Given the description of an element on the screen output the (x, y) to click on. 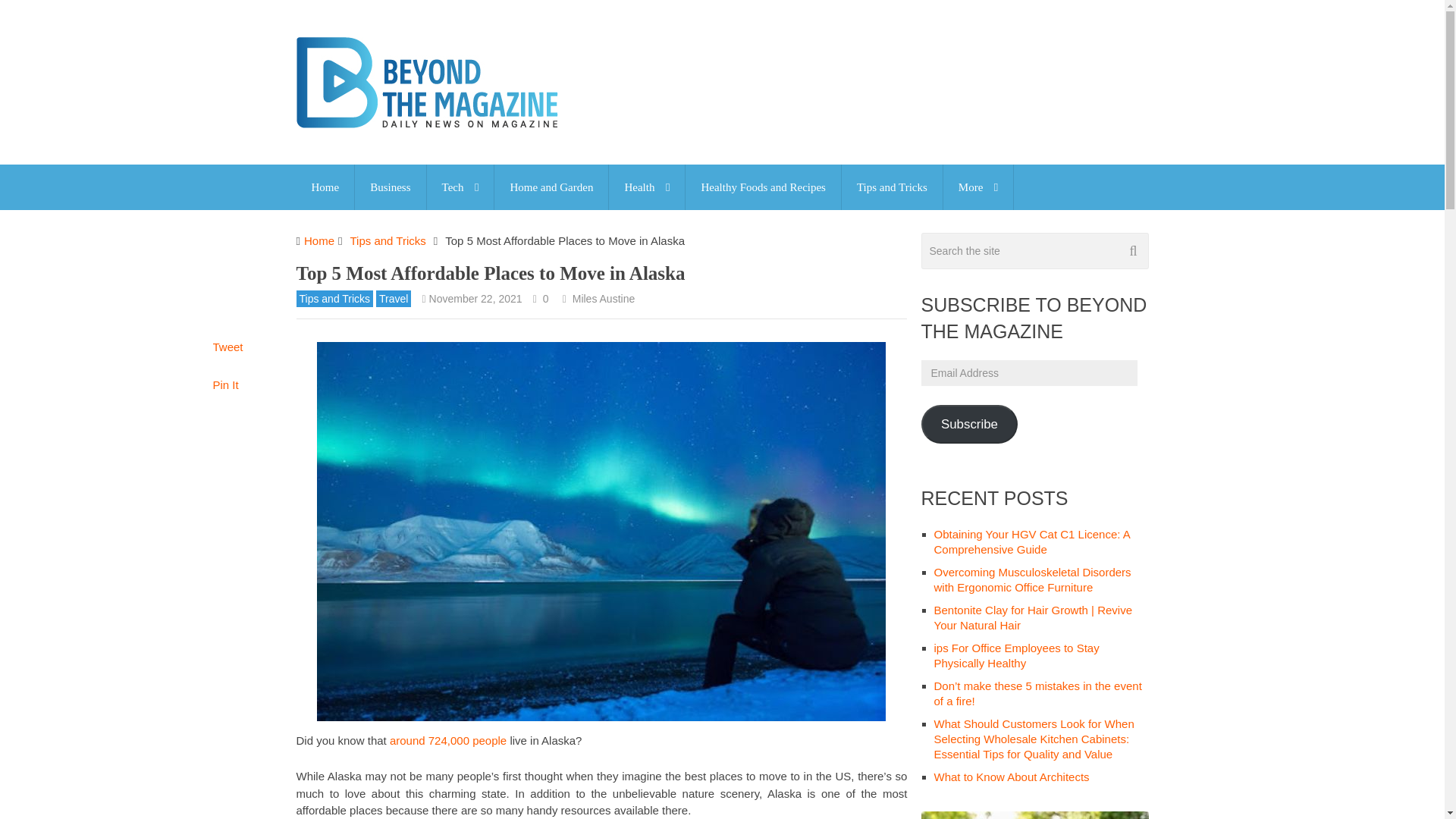
Business (390, 186)
Tips and Tricks (891, 186)
More (978, 186)
Posts by Miles Austine (603, 298)
View all posts in Tips and Tricks (333, 298)
Home (324, 186)
Health (646, 186)
Tech (460, 186)
View all posts in Travel (392, 298)
Healthy Foods and Recipes (763, 186)
